Given the description of an element on the screen output the (x, y) to click on. 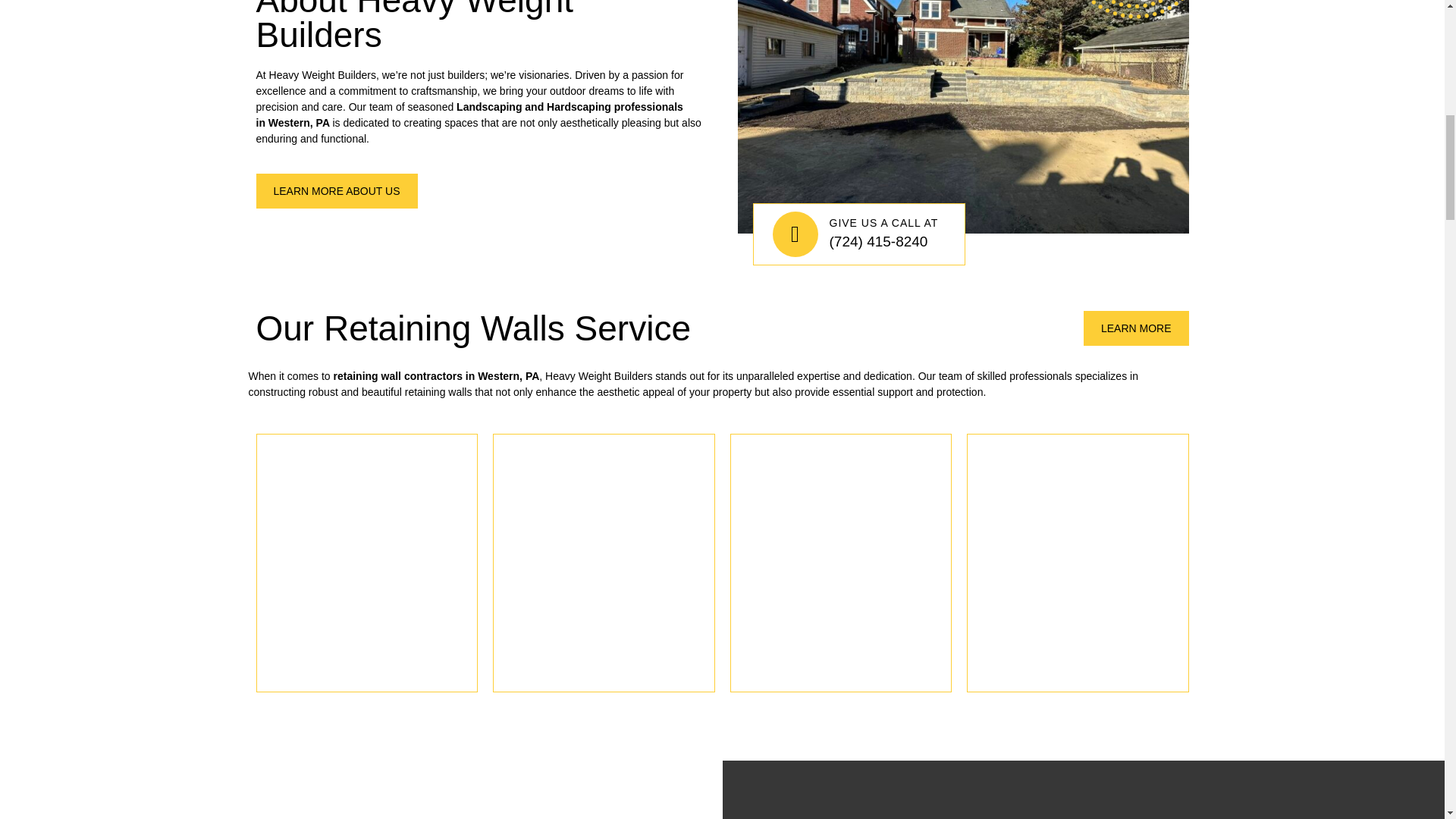
LEARN MORE (1136, 328)
LEARN MORE ABOUT US (336, 190)
GIVE US A CALL AT (884, 223)
